Given the description of an element on the screen output the (x, y) to click on. 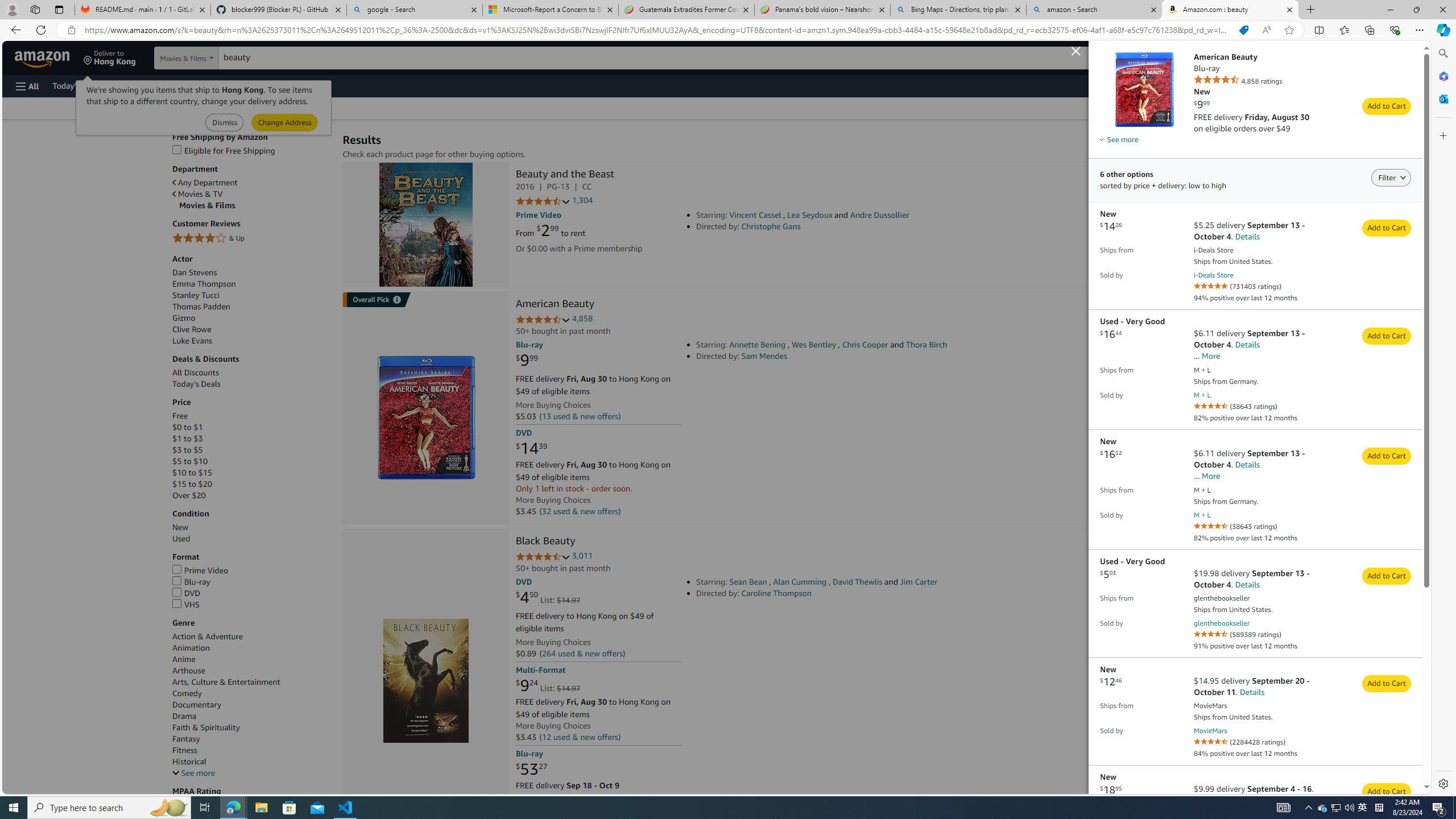
New (251, 527)
Documentary (196, 704)
(13 used & new offers) (579, 416)
Tab actions menu (58, 9)
Close (1442, 9)
From $2.99 to rent (550, 230)
Gift Cards (251, 85)
Over $20 (251, 495)
Alan Cumming (800, 581)
4.7 out of 5 stars (542, 557)
Annette Bening (757, 344)
Arts, Culture & Entertainment (251, 682)
Clive Rowe (191, 329)
Add this page to favorites (Ctrl+D) (1289, 29)
